Given the description of an element on the screen output the (x, y) to click on. 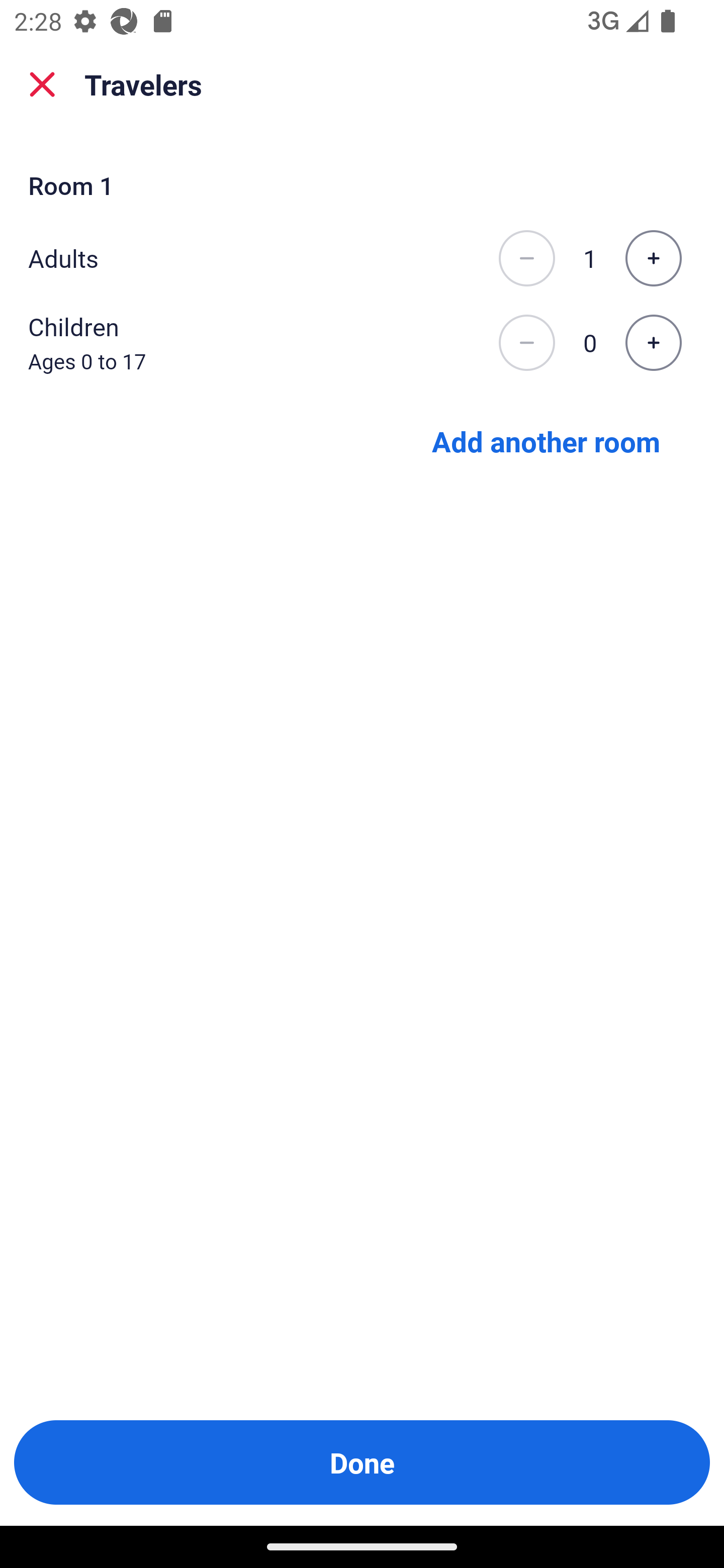
close (42, 84)
Decrease the number of adults (526, 258)
Increase the number of adults (653, 258)
Decrease the number of children (526, 343)
Increase the number of children (653, 343)
Add another room (545, 440)
Done (361, 1462)
